Given the description of an element on the screen output the (x, y) to click on. 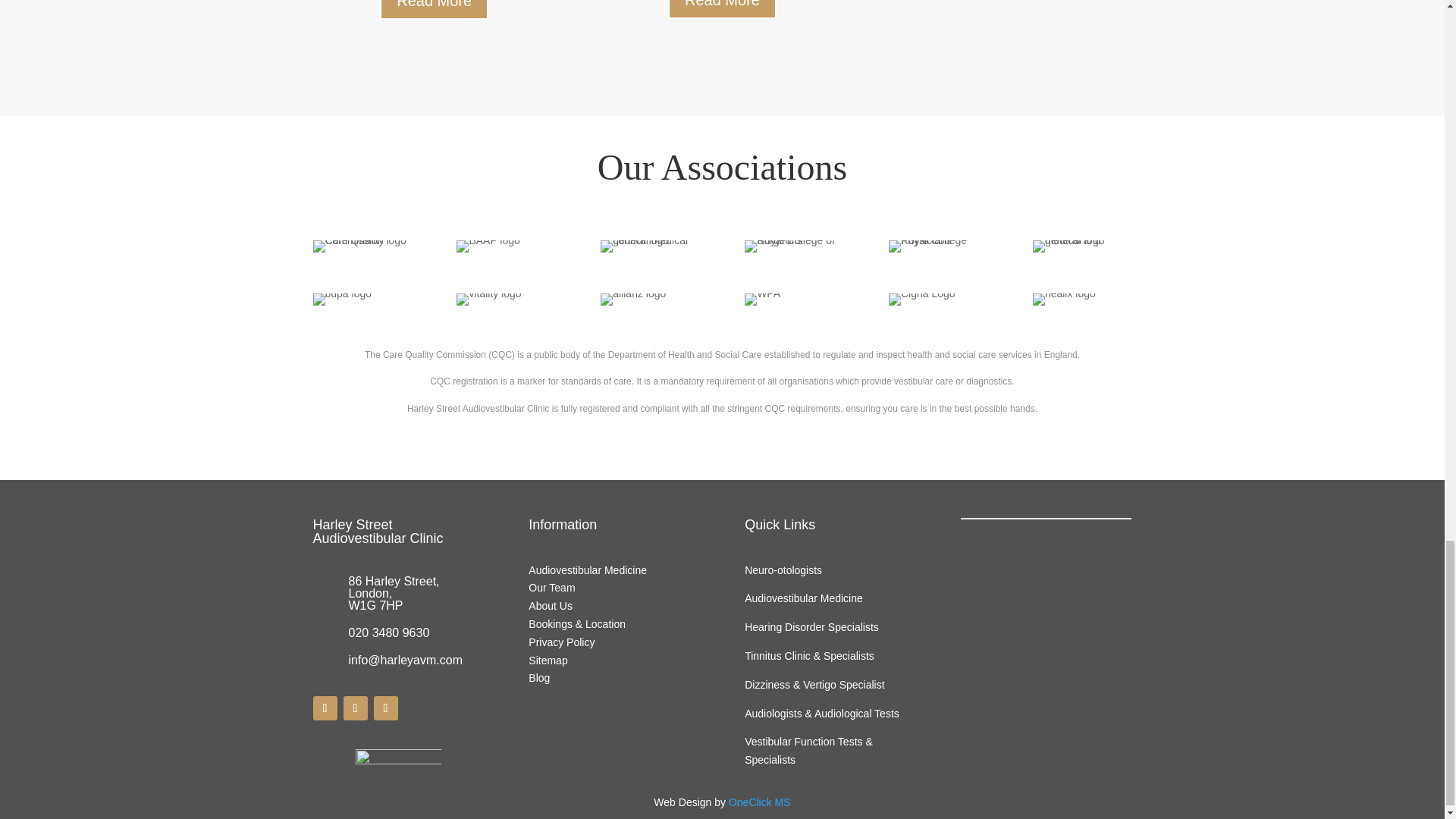
general and medical logo (1081, 246)
Care Quality Commission logo (361, 246)
general medical council logo (648, 246)
BAAP logo (488, 246)
bupa logo (342, 299)
Royal College Physicians (937, 246)
Royal College of Surgeons (793, 246)
vitality logo (489, 299)
